Given the description of an element on the screen output the (x, y) to click on. 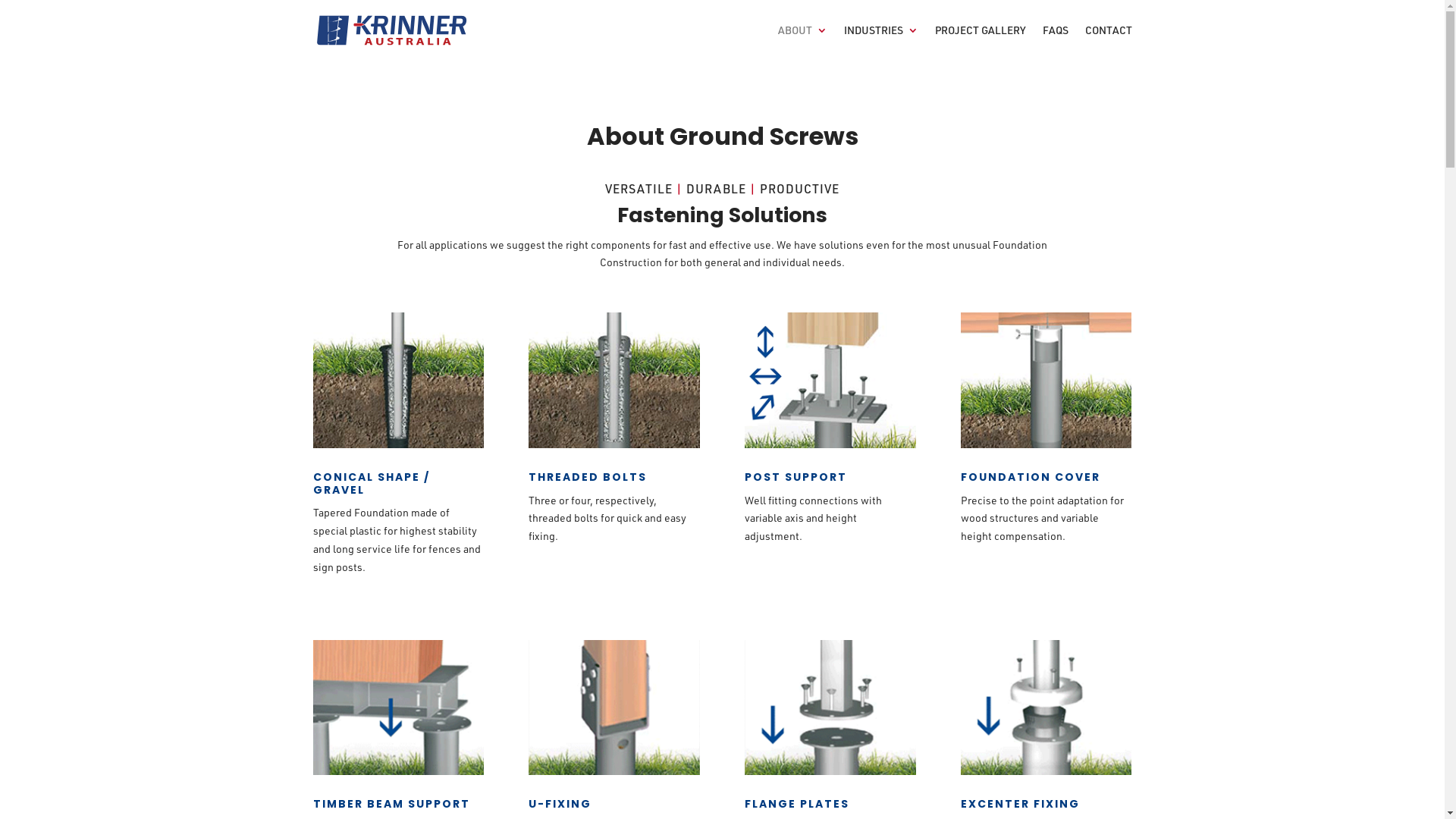
INDUSTRIES Element type: text (880, 42)
ABOUT Element type: text (802, 42)
FAQS Element type: text (1054, 42)
PROJECT GALLERY Element type: text (979, 42)
CONTACT Element type: text (1107, 42)
